Given the description of an element on the screen output the (x, y) to click on. 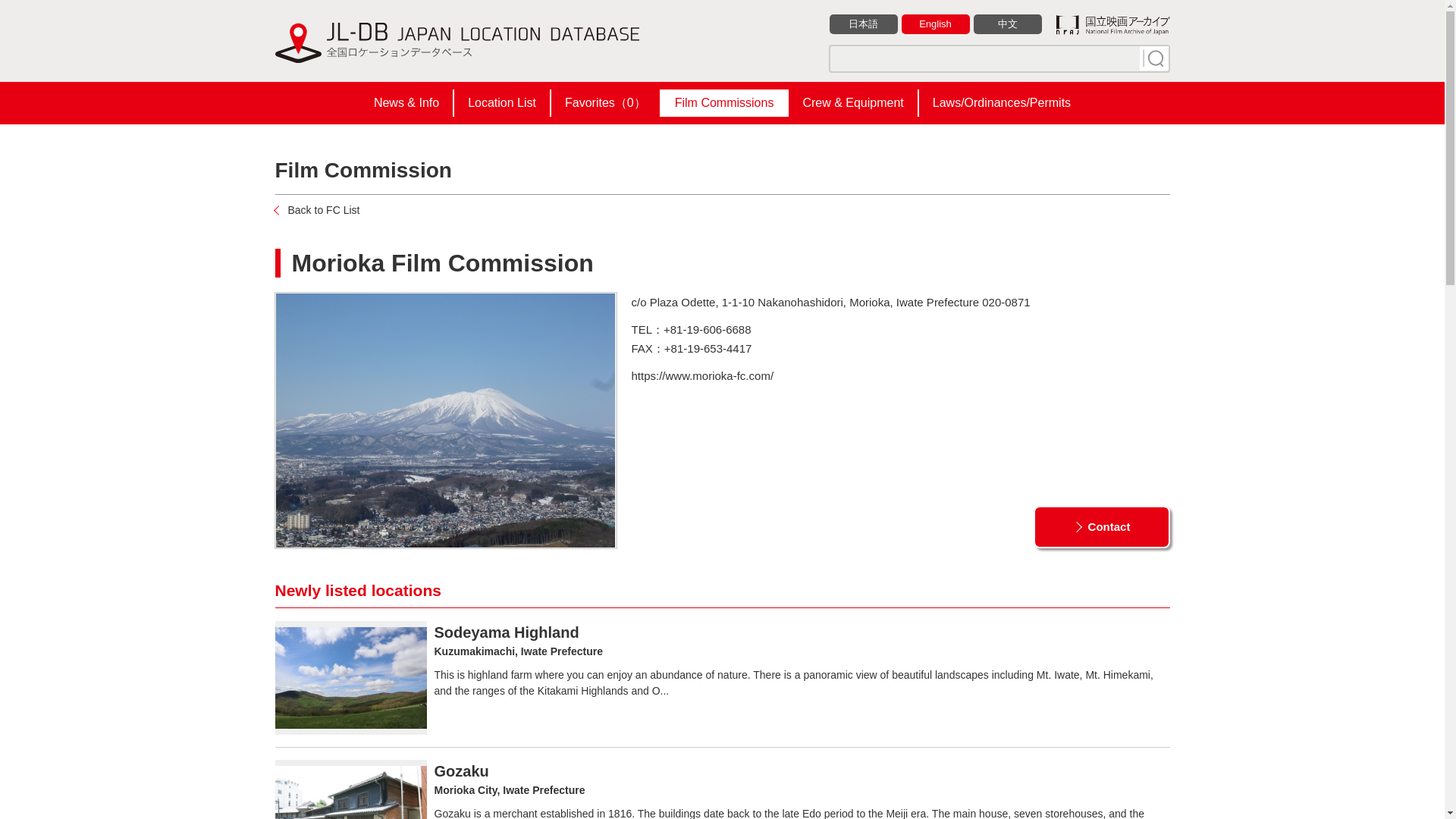
Film Commissions (724, 103)
Contact (1100, 527)
Back to FC List (317, 209)
English (935, 24)
Location List (502, 103)
1 (1152, 57)
